Given the description of an element on the screen output the (x, y) to click on. 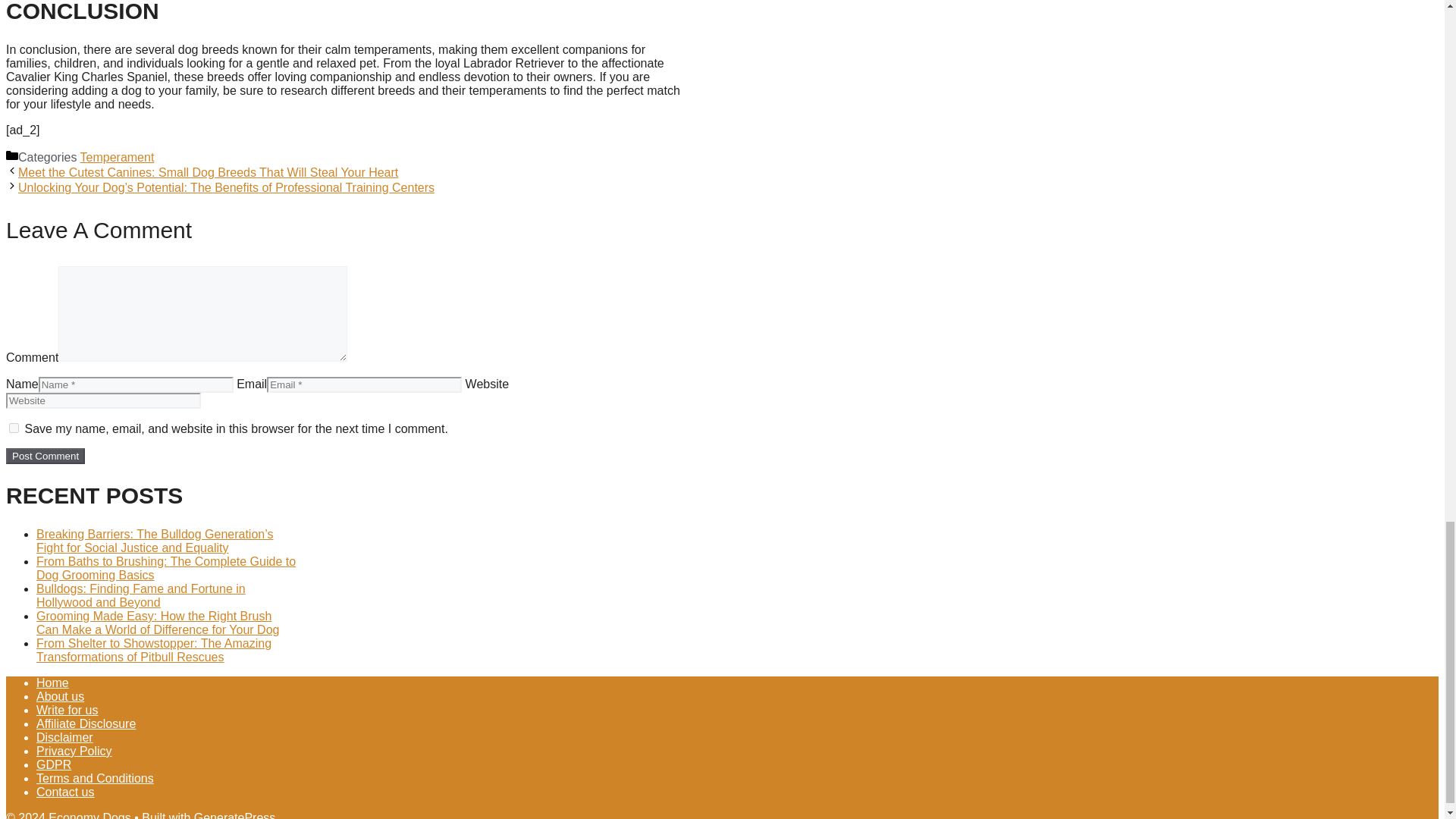
About us (60, 696)
Terms and Conditions (95, 778)
Temperament (117, 156)
Affiliate Disclosure (85, 723)
Bulldogs: Finding Fame and Fortune in Hollywood and Beyond (141, 595)
yes (13, 428)
GDPR (53, 764)
Disclaimer (64, 737)
Home (52, 682)
Privacy Policy (74, 750)
Post Comment (44, 455)
Contact us (65, 791)
